Given the description of an element on the screen output the (x, y) to click on. 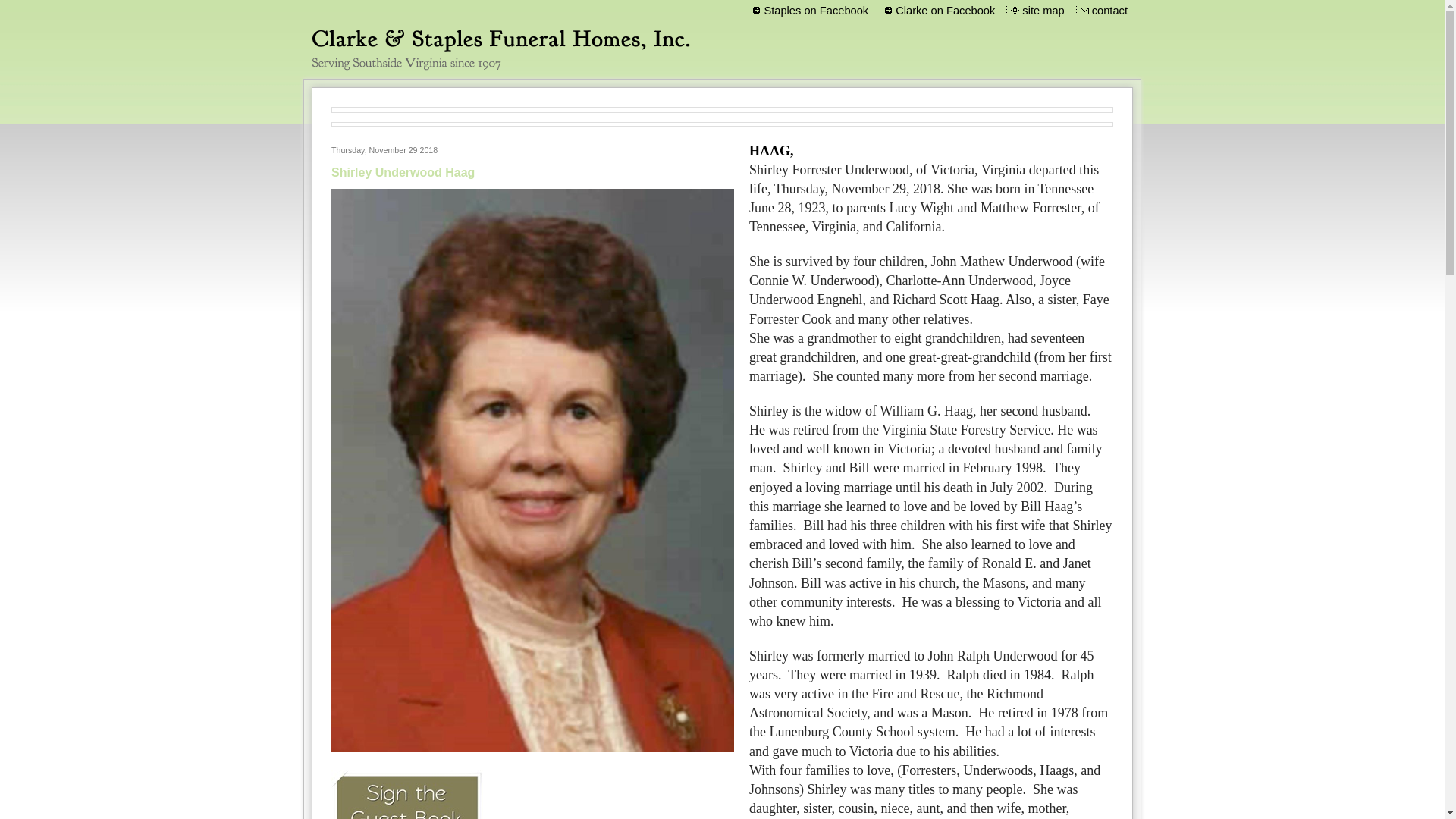
Shirley Underwood Haag (402, 172)
Staples on Facebook (815, 10)
site map (1043, 10)
contact (1110, 10)
Clarke on Facebook (945, 10)
